Given the description of an element on the screen output the (x, y) to click on. 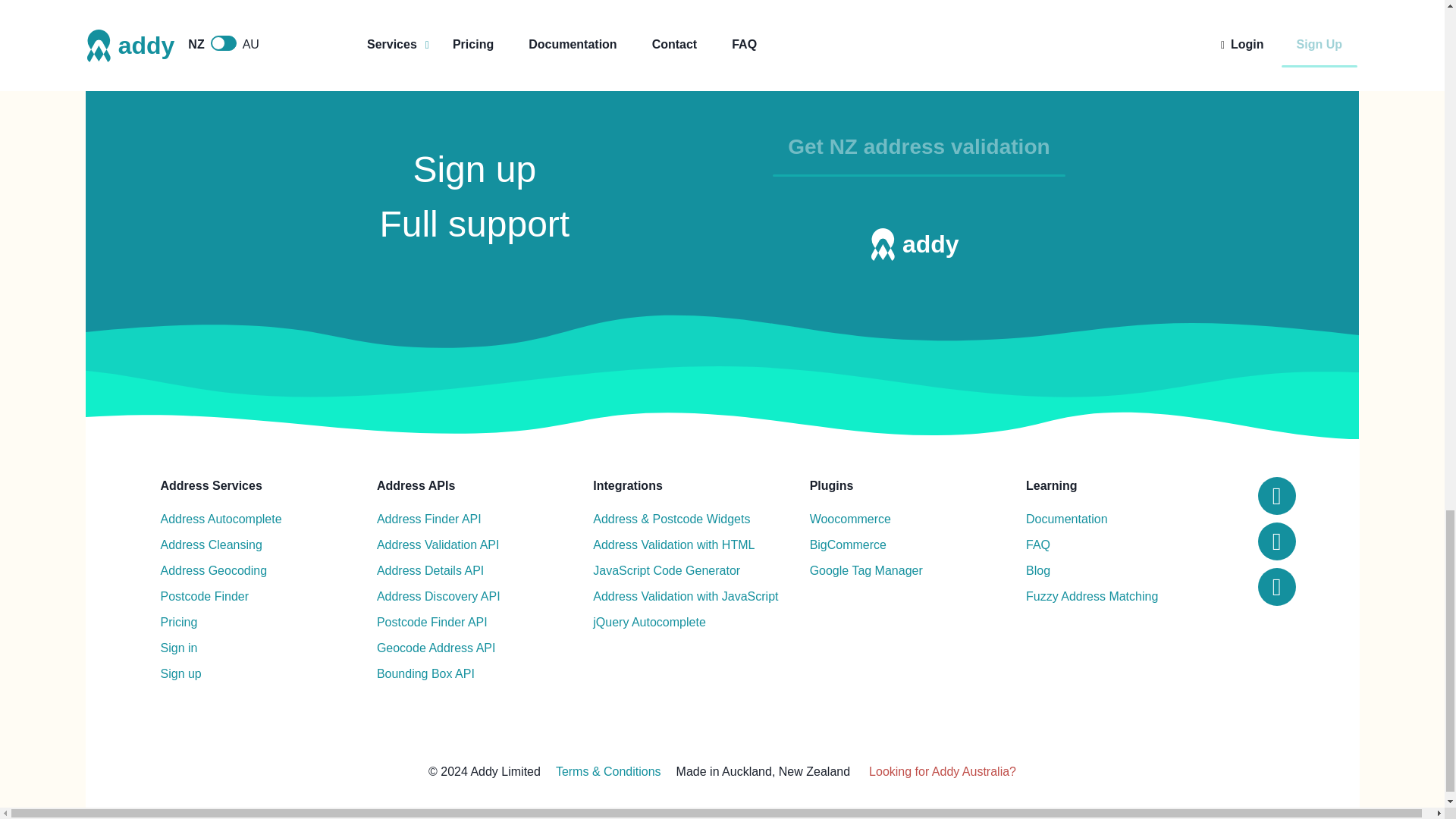
JavaScript Code Generator (665, 570)
Bounding Box API (425, 674)
Postcode Finder API (432, 622)
Address Geocoding (213, 570)
Address Validation API (438, 545)
Get NZ address validation (918, 146)
Address Autocomplete (221, 519)
Address Finder API (429, 519)
Address Discovery API (438, 597)
Address Validation with HTML (673, 545)
